Given the description of an element on the screen output the (x, y) to click on. 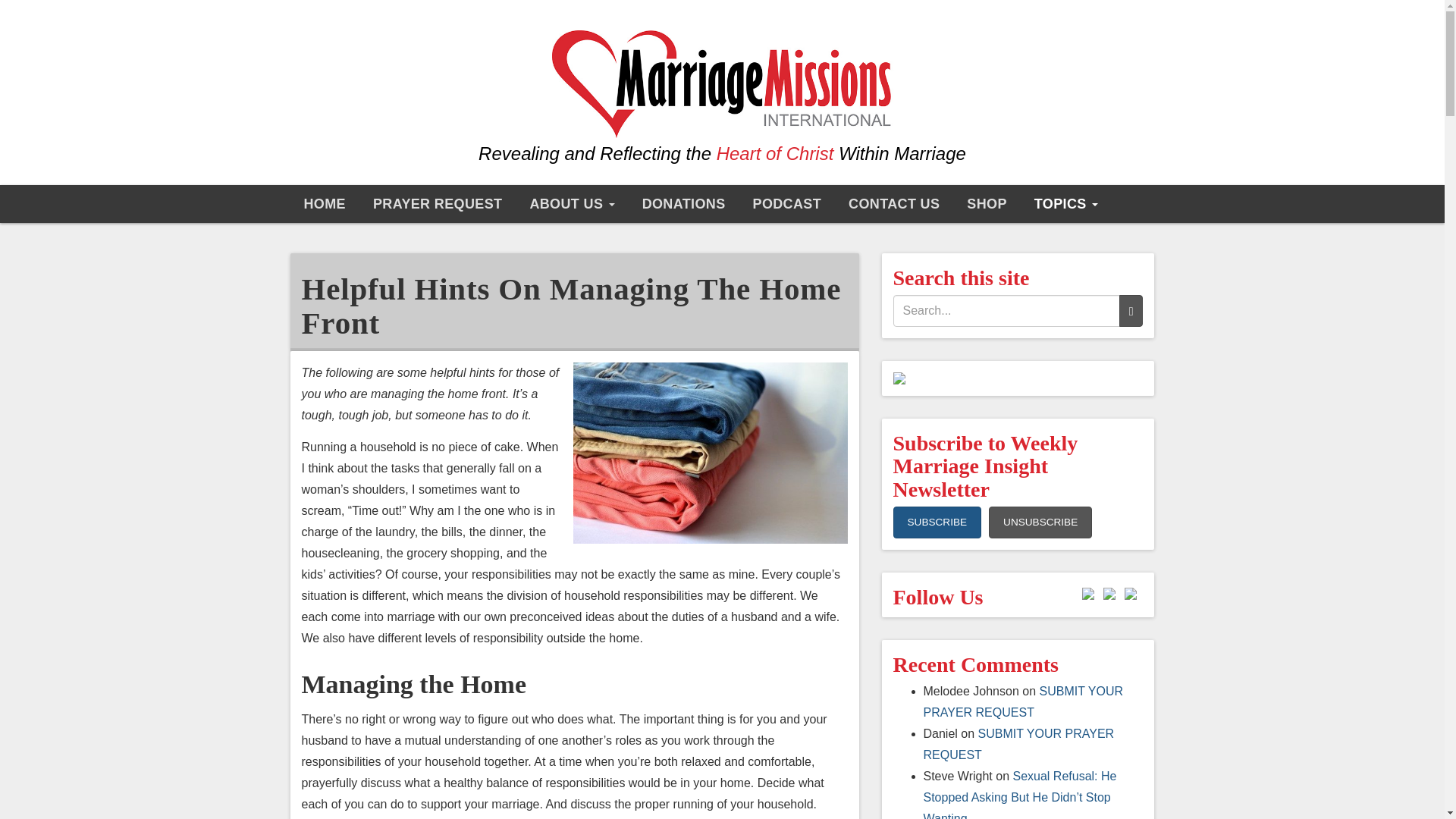
PODCAST (787, 203)
Revealing and Reflecting the Heart of Christ Within Marriage (721, 99)
HOME (323, 203)
PRAYER REQUEST (437, 203)
CONTACT US (893, 203)
TOPICS (1066, 203)
ABOUT US (571, 203)
SHOP (986, 203)
DONATIONS (683, 203)
